Given the description of an element on the screen output the (x, y) to click on. 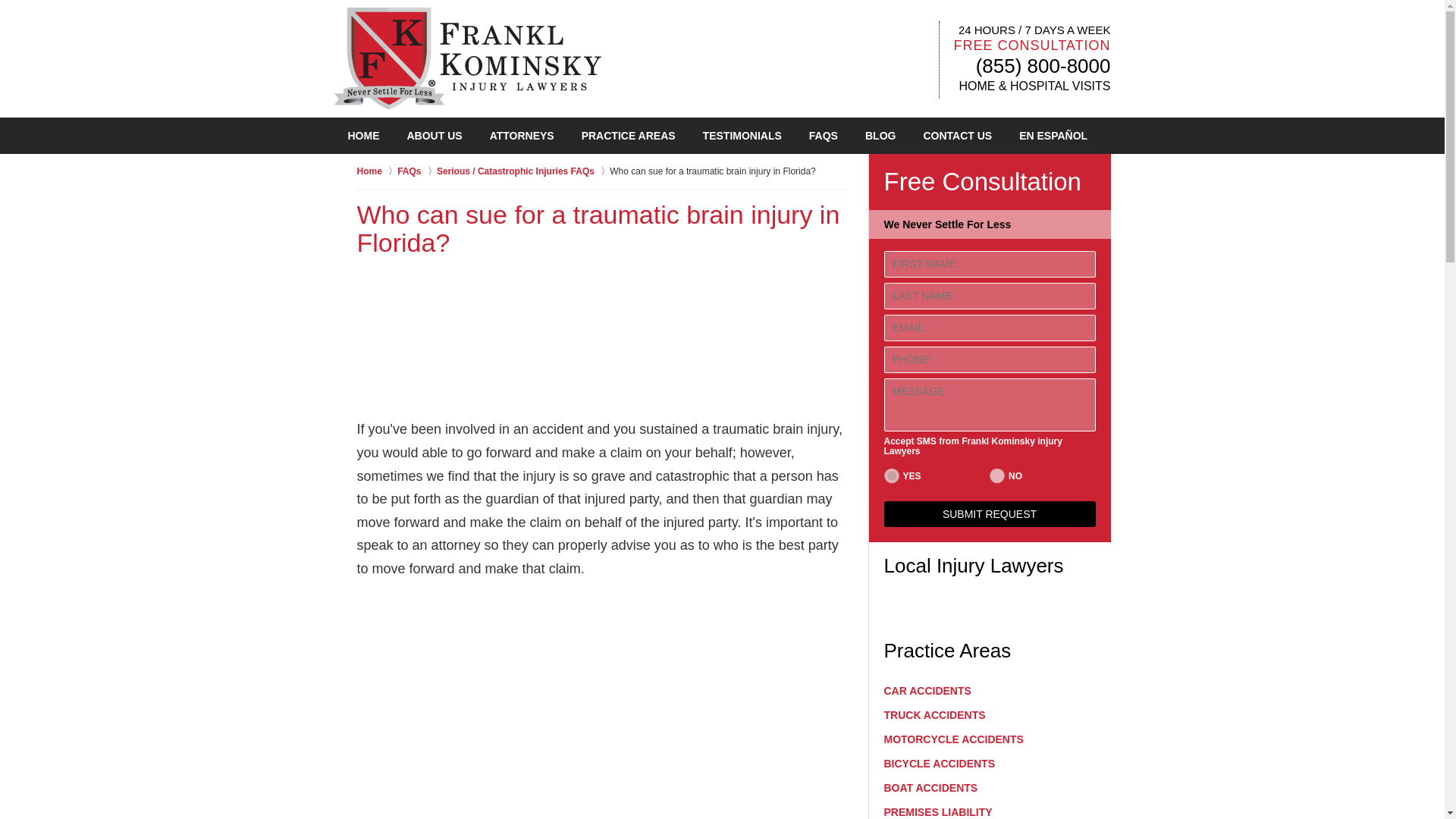
TRUCK ACCIDENTS (989, 714)
FAQs (416, 171)
ABOUT US (434, 135)
CAR ACCIDENTS (989, 690)
ATTORNEYS (521, 135)
PRACTICE AREAS (627, 135)
BLOG (879, 135)
Home (376, 171)
FAQS (822, 135)
HOME (363, 135)
